Given the description of an element on the screen output the (x, y) to click on. 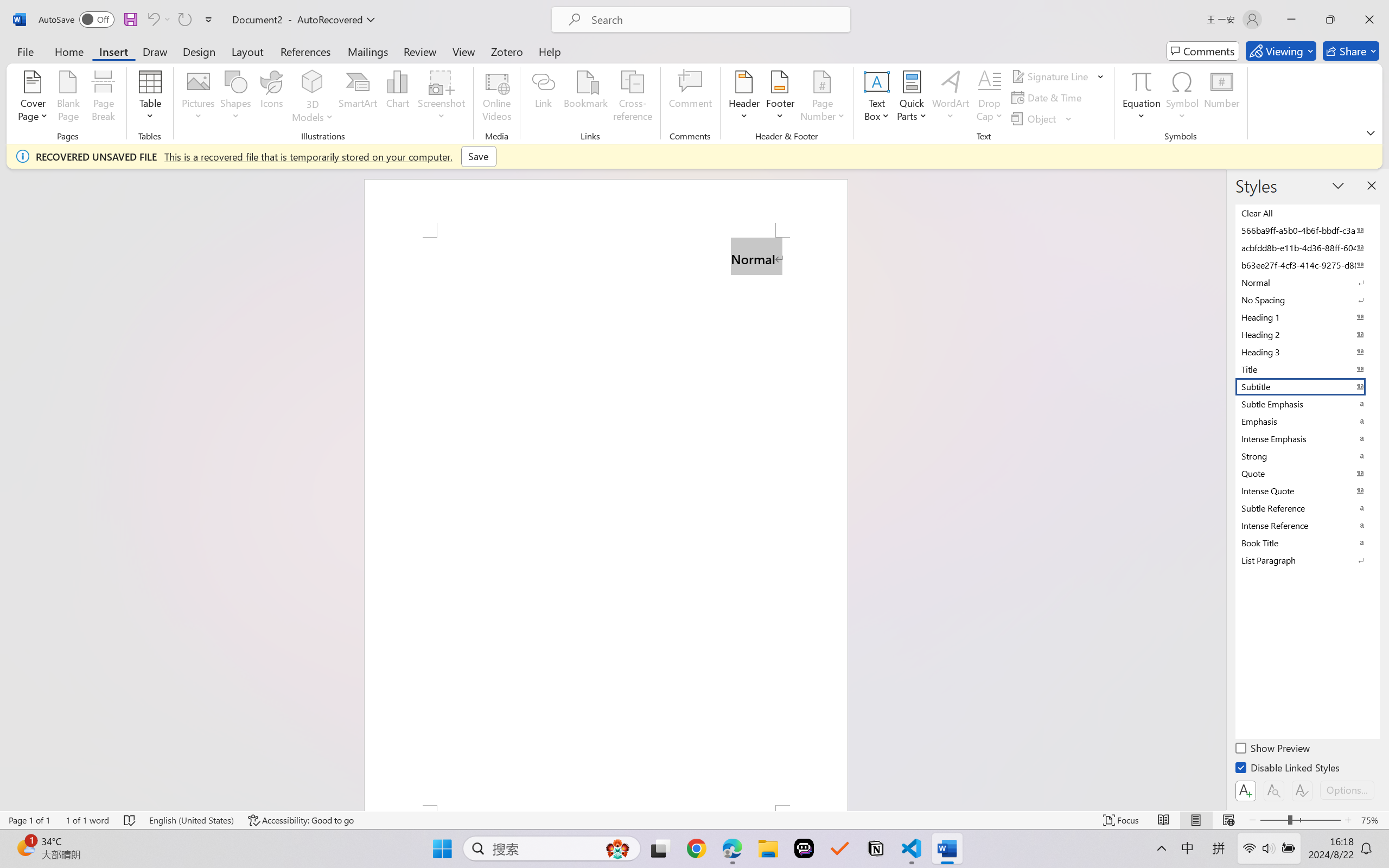
SmartArt... (358, 97)
Text Box (876, 97)
Can't Undo (152, 19)
Signature Line (1051, 75)
Task Pane Options (1338, 185)
Quote (1306, 473)
Can't Repeat (184, 19)
Page 1 content (605, 521)
Subtitle (1306, 386)
Title (1306, 369)
